Given the description of an element on the screen output the (x, y) to click on. 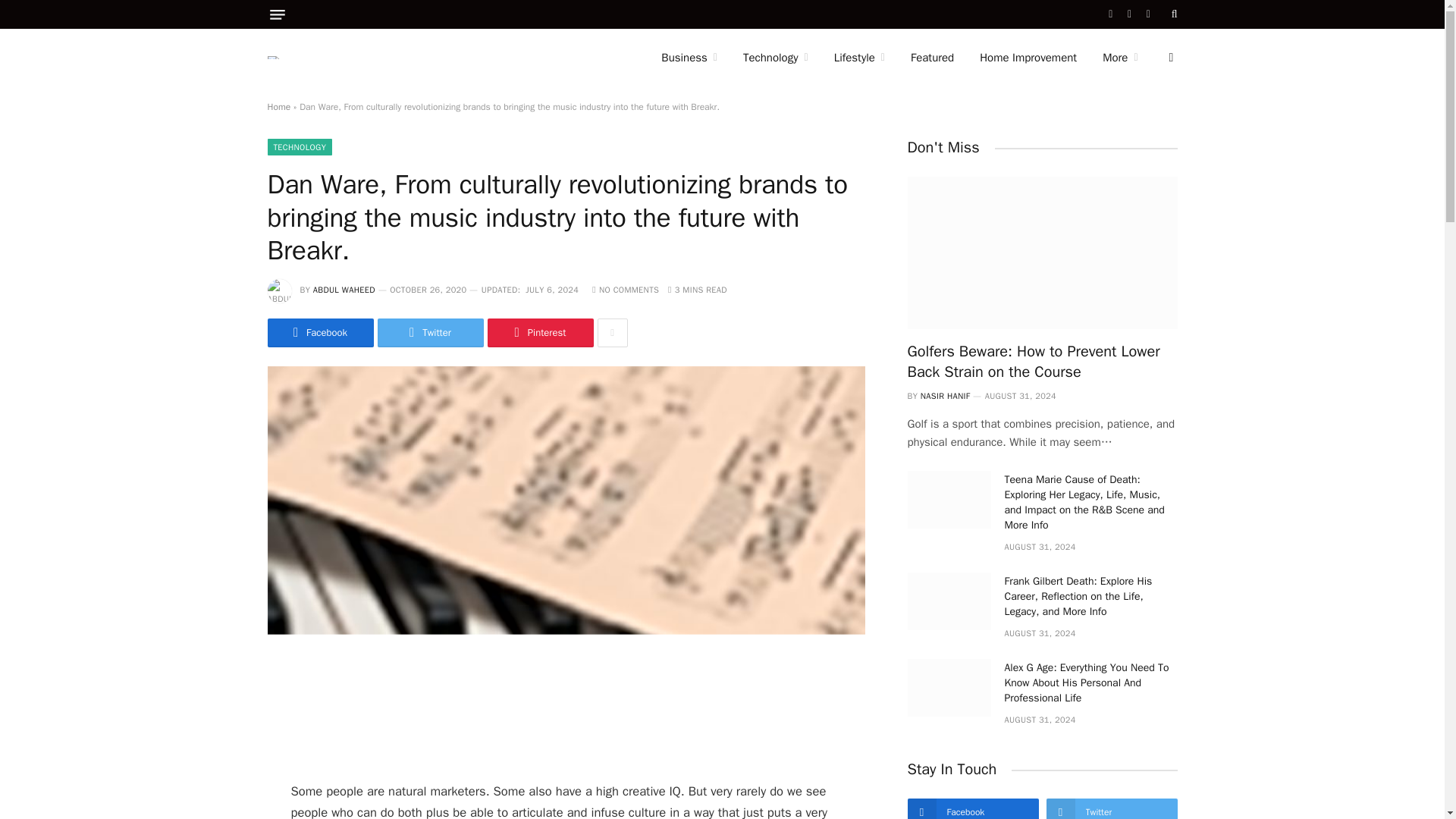
Share on Facebook (319, 332)
Lifestyle (859, 57)
Show More Social Sharing (611, 332)
Share on Pinterest (539, 332)
Technology (775, 57)
Business (688, 57)
Switch to Dark Design - easier on eyes. (1169, 57)
More (1119, 57)
Featured (932, 57)
